Given the description of an element on the screen output the (x, y) to click on. 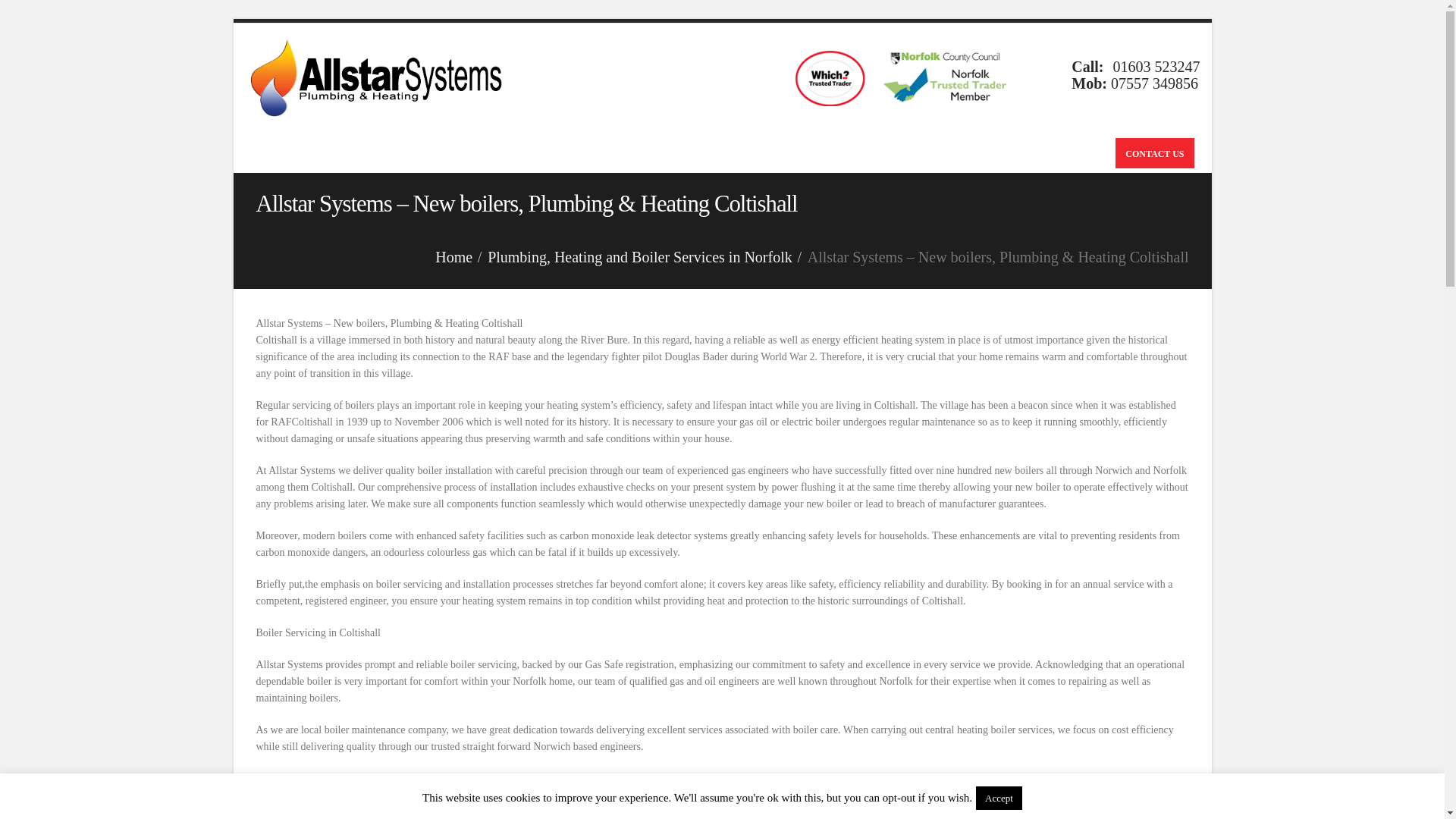
All Star Systems - Plumbing and Heating in Norwich, Norfolk (380, 77)
BOILERS (426, 153)
HEATING (572, 153)
PLUMBING (499, 153)
RATES (695, 153)
HOME (272, 153)
CONTACT US (1154, 153)
FINANCE (640, 153)
COMMERCIAL (344, 153)
BLOG (745, 153)
ABOUT US (802, 153)
